Given the description of an element on the screen output the (x, y) to click on. 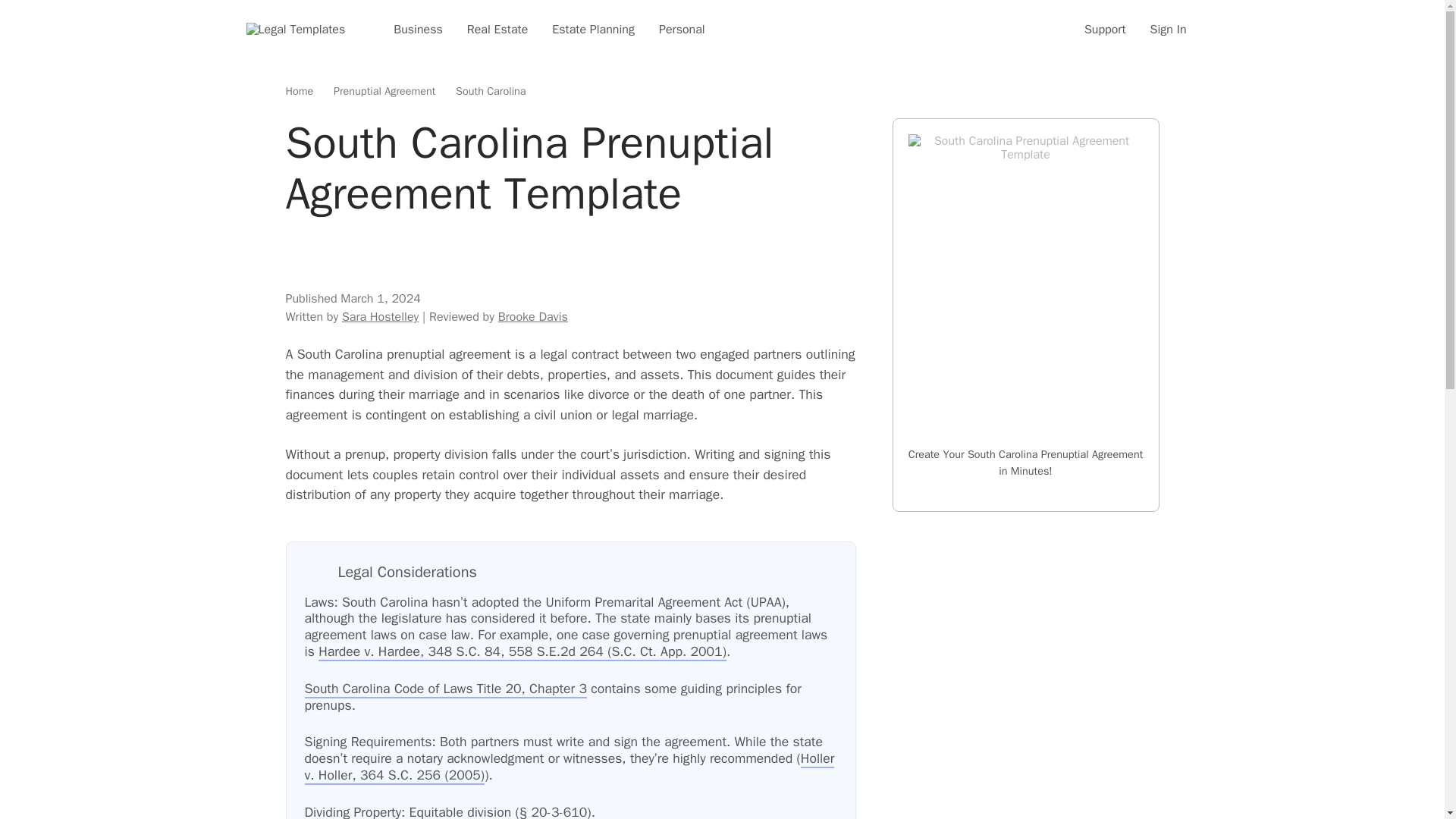
Legal Templates (295, 29)
Estate Planning (593, 29)
Support (1104, 29)
Real Estate (497, 29)
Business (417, 29)
Personal (681, 29)
